Given the description of an element on the screen output the (x, y) to click on. 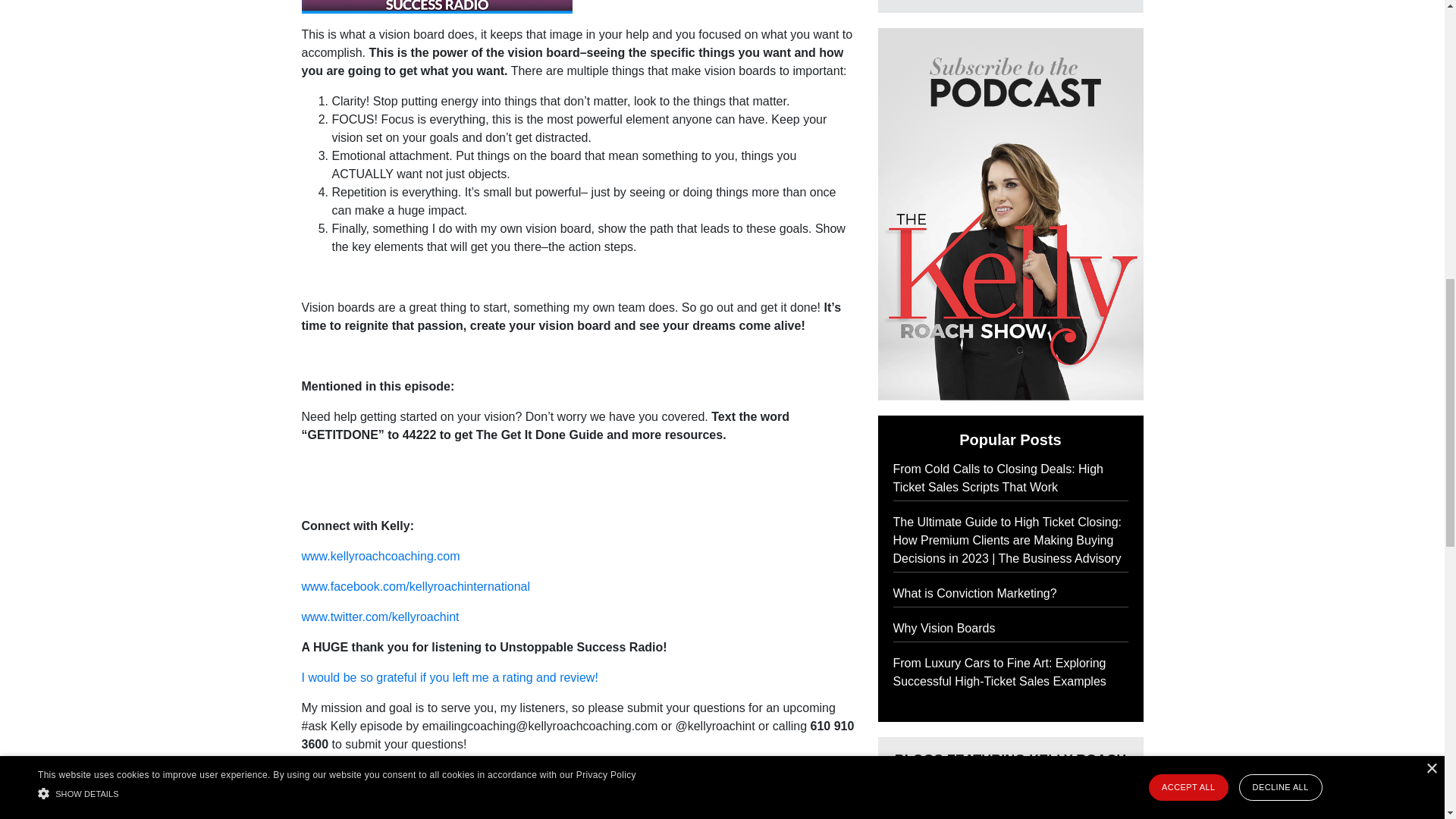
www.kellyroachcoaching.com (380, 555)
I would be so grateful if you left me a rating and review! (449, 676)
